Given the description of an element on the screen output the (x, y) to click on. 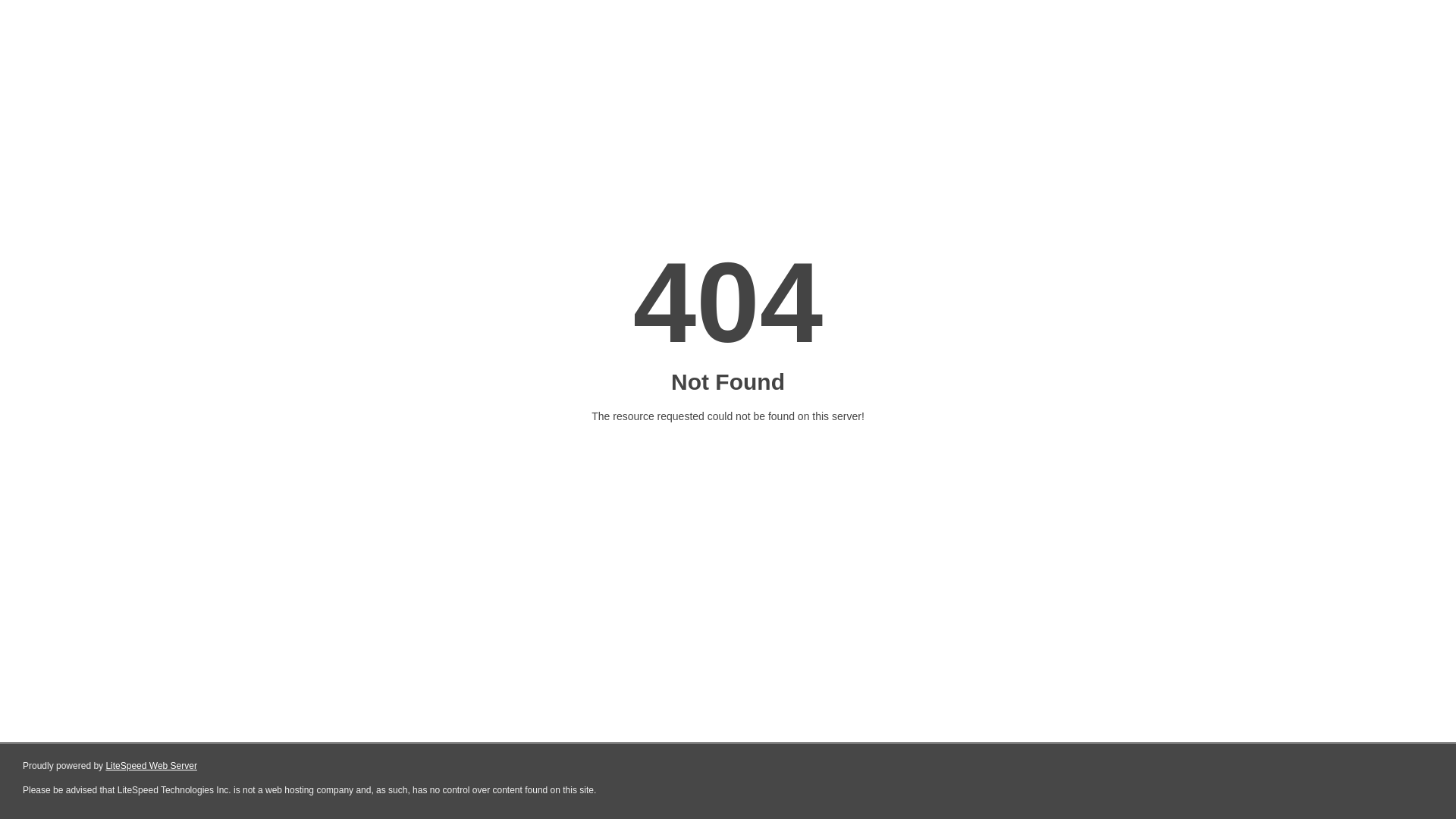
LiteSpeed Web Server Element type: text (151, 765)
